Given the description of an element on the screen output the (x, y) to click on. 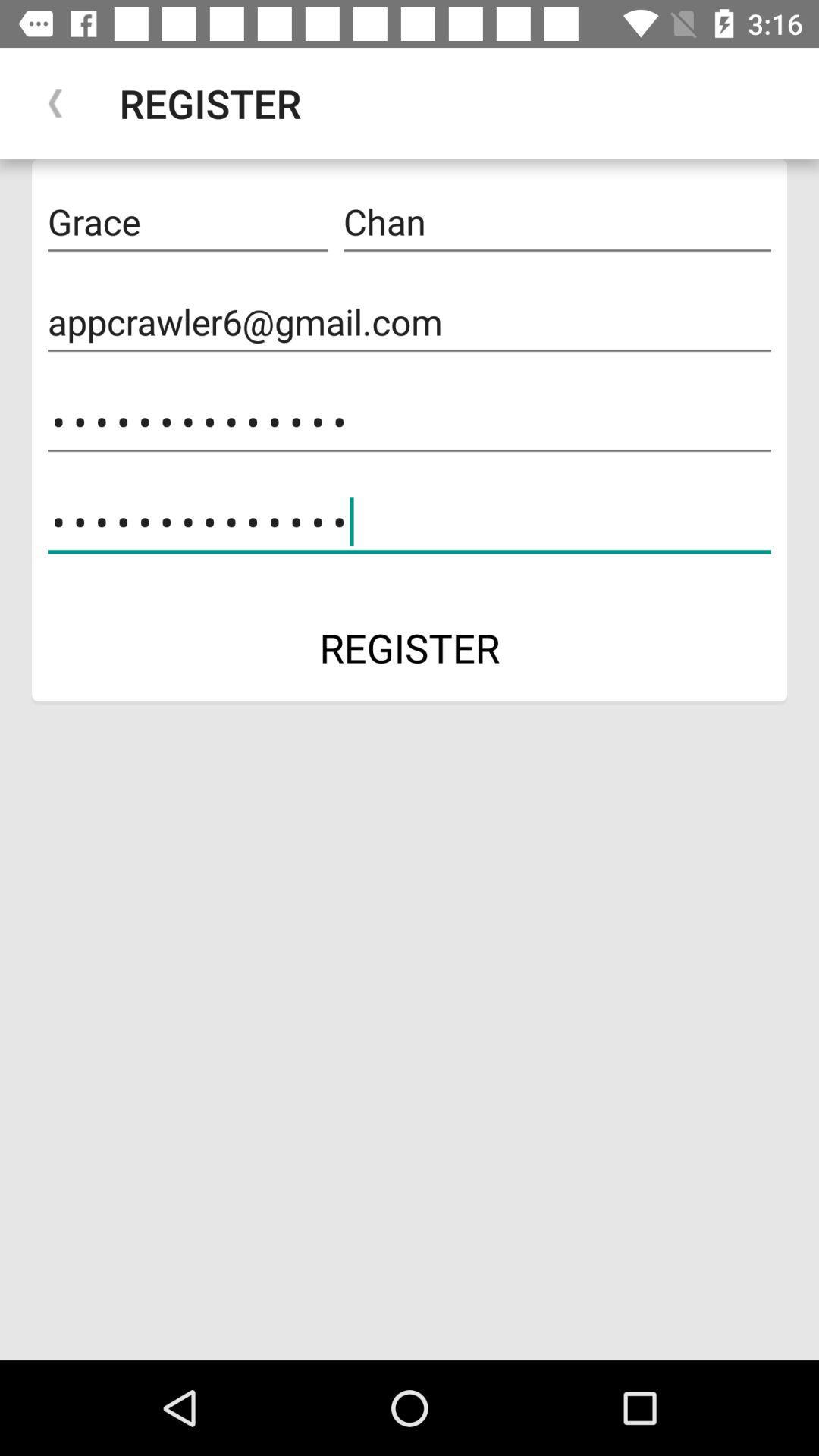
launch the appcrawler6@gmail.com (409, 322)
